Given the description of an element on the screen output the (x, y) to click on. 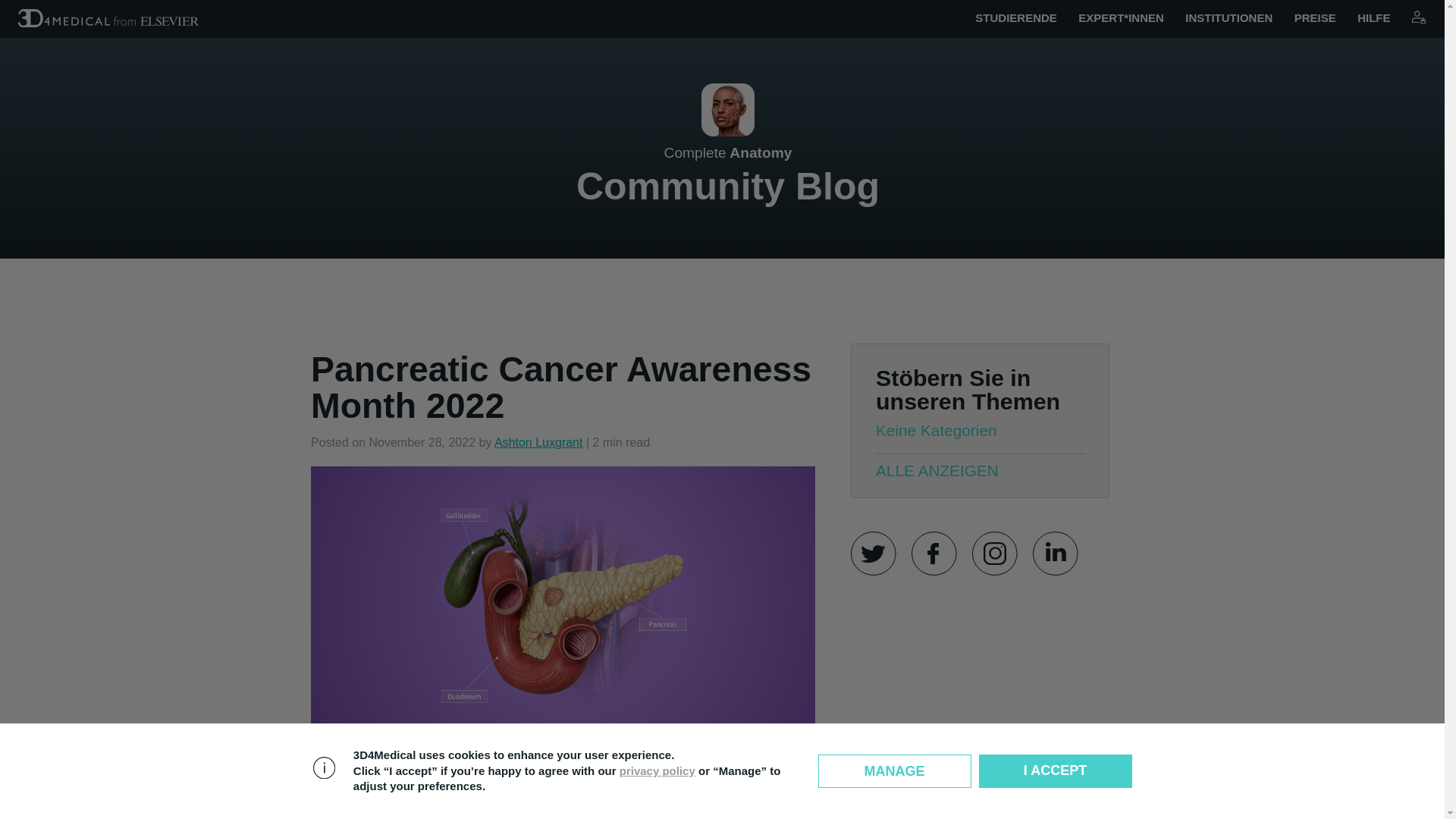
HILFE (1373, 17)
INSTITUTIONEN (1228, 17)
LOGIN CREATED WITH SKETCH. (1418, 17)
PREISE (1315, 17)
STUDIERENDE (1016, 17)
Ashton Luxgrant (1418, 17)
